Given the description of an element on the screen output the (x, y) to click on. 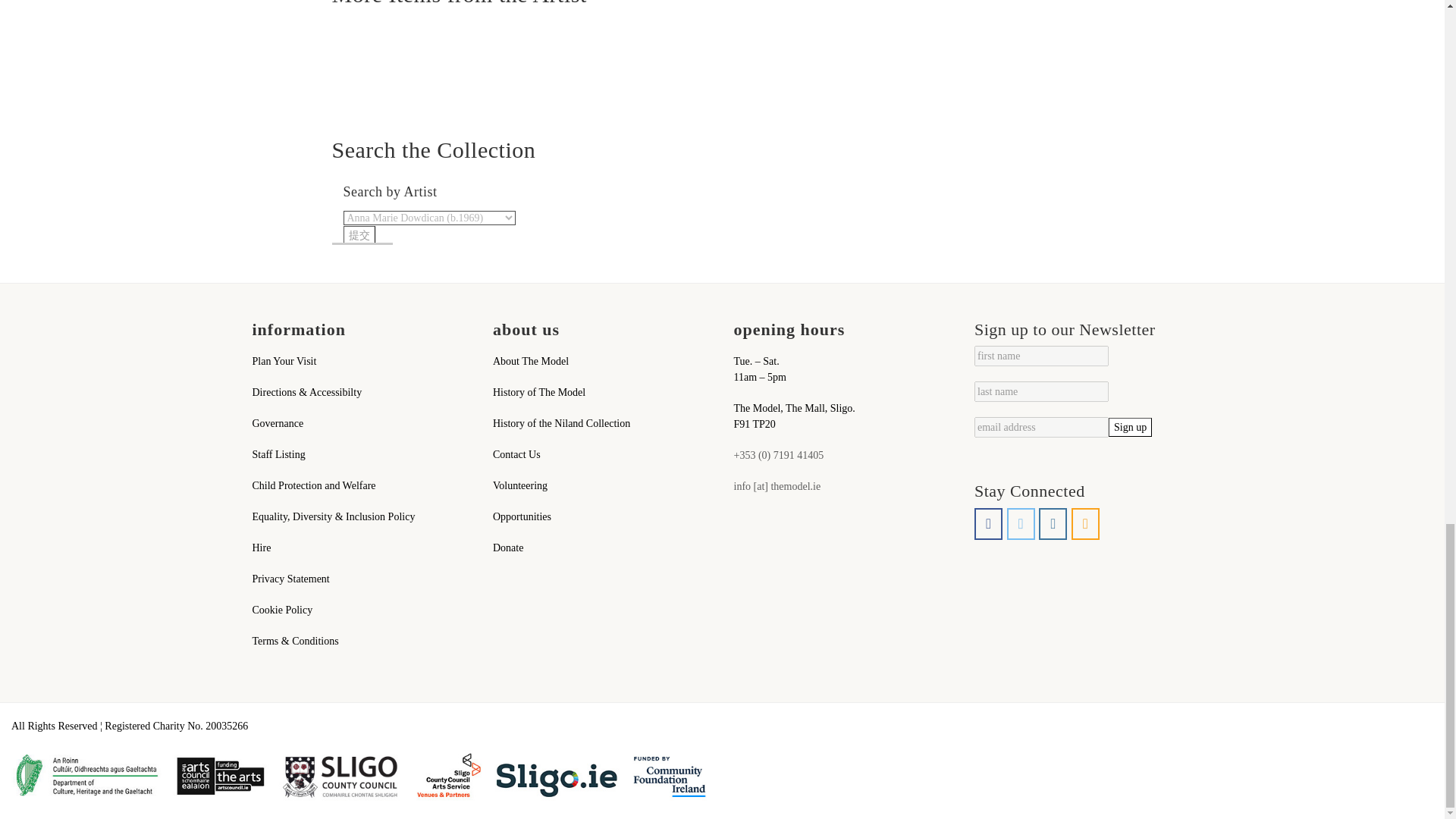
The Model, Sligo. on Instagram (1053, 522)
The Model, Sligo. on X Twitter (1021, 522)
The Model, Sligo. on Facebook (988, 522)
Sign up (1129, 426)
